Given the description of an element on the screen output the (x, y) to click on. 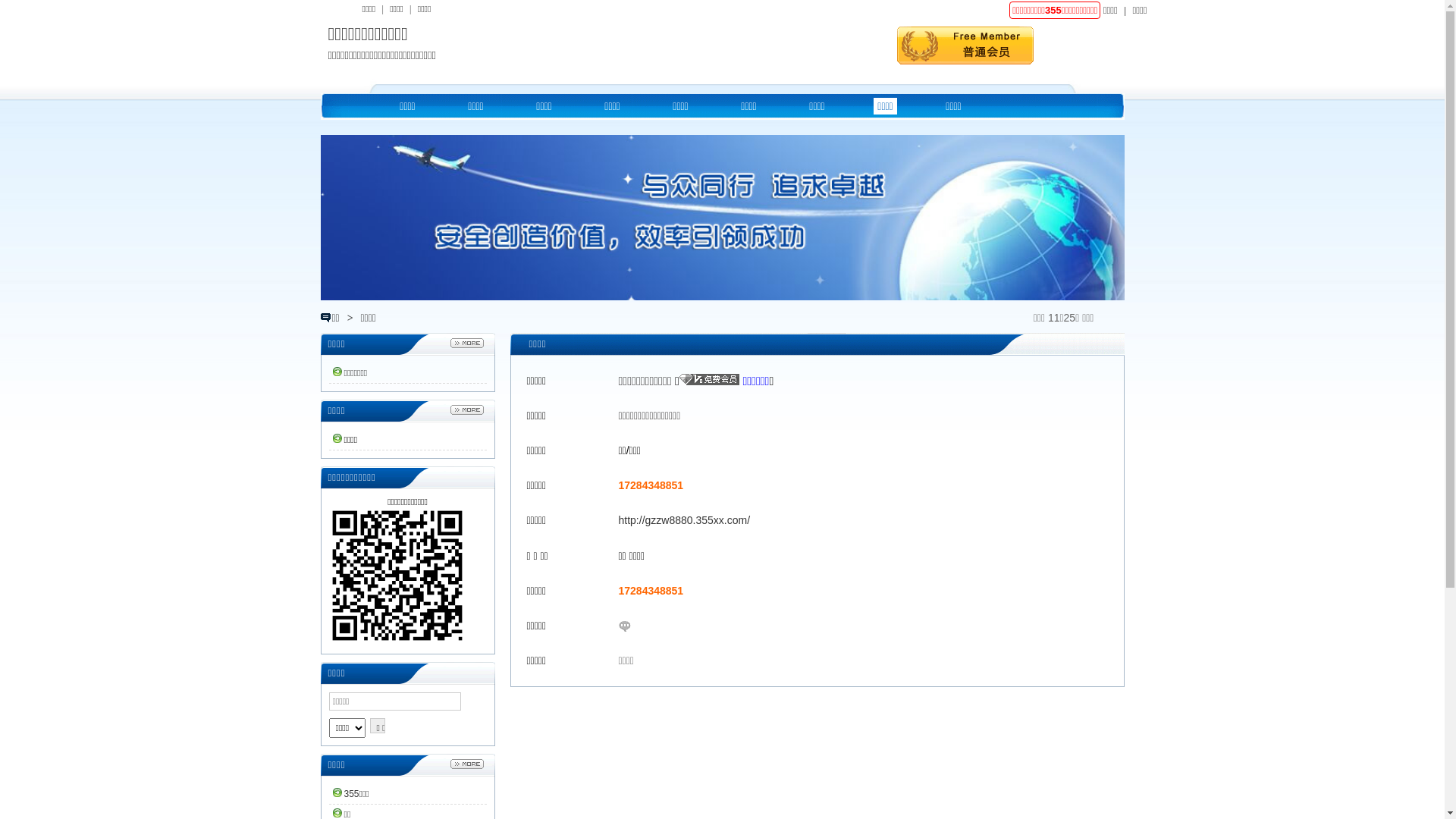
http://gzzw8880.355xx.com/ Element type: text (684, 520)
